Given the description of an element on the screen output the (x, y) to click on. 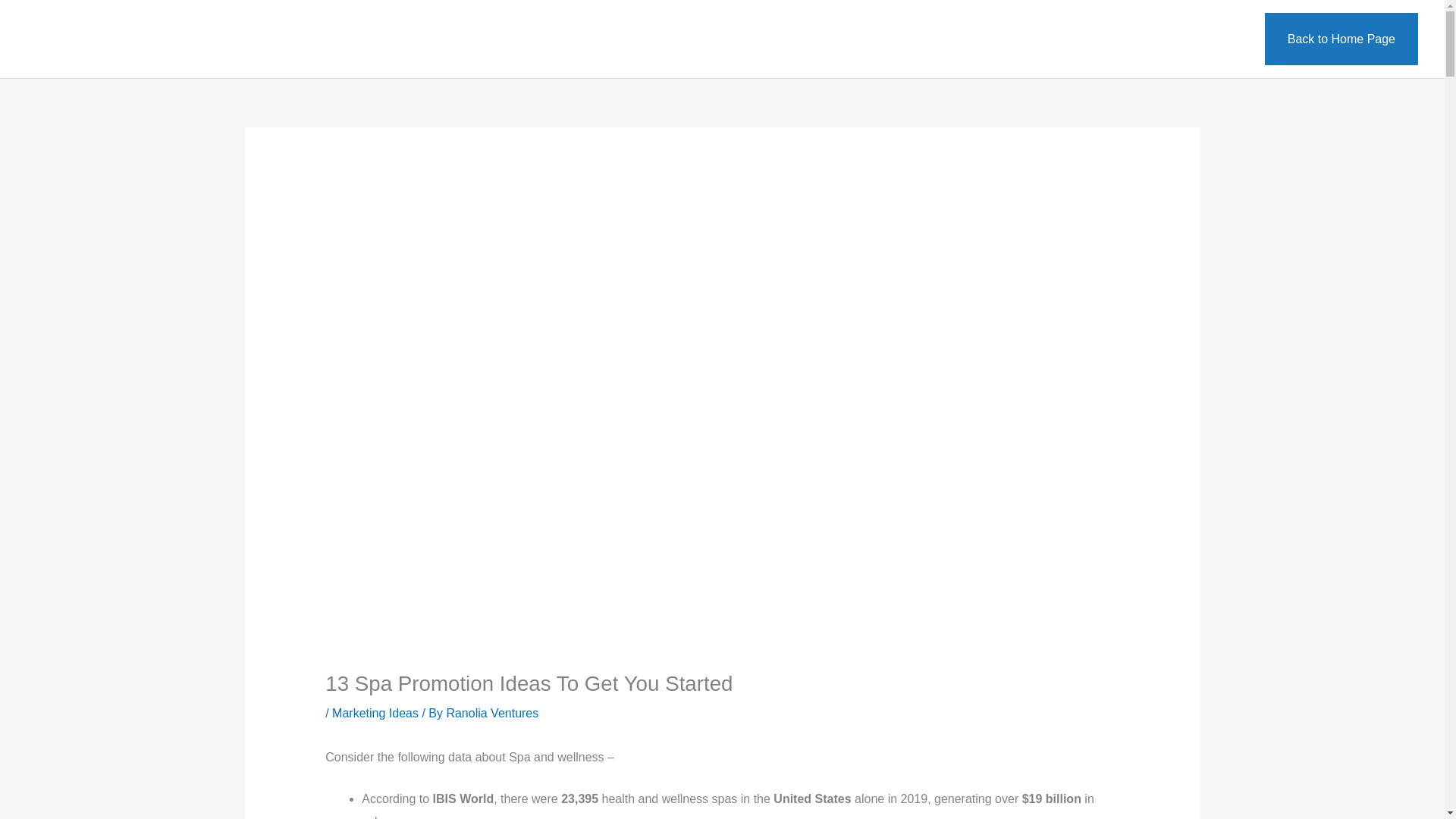
Ranolia Ventures (491, 712)
View all posts by Ranolia Ventures (491, 712)
Marketing Ideas (375, 712)
Back to Home Page (1341, 39)
